Given the description of an element on the screen output the (x, y) to click on. 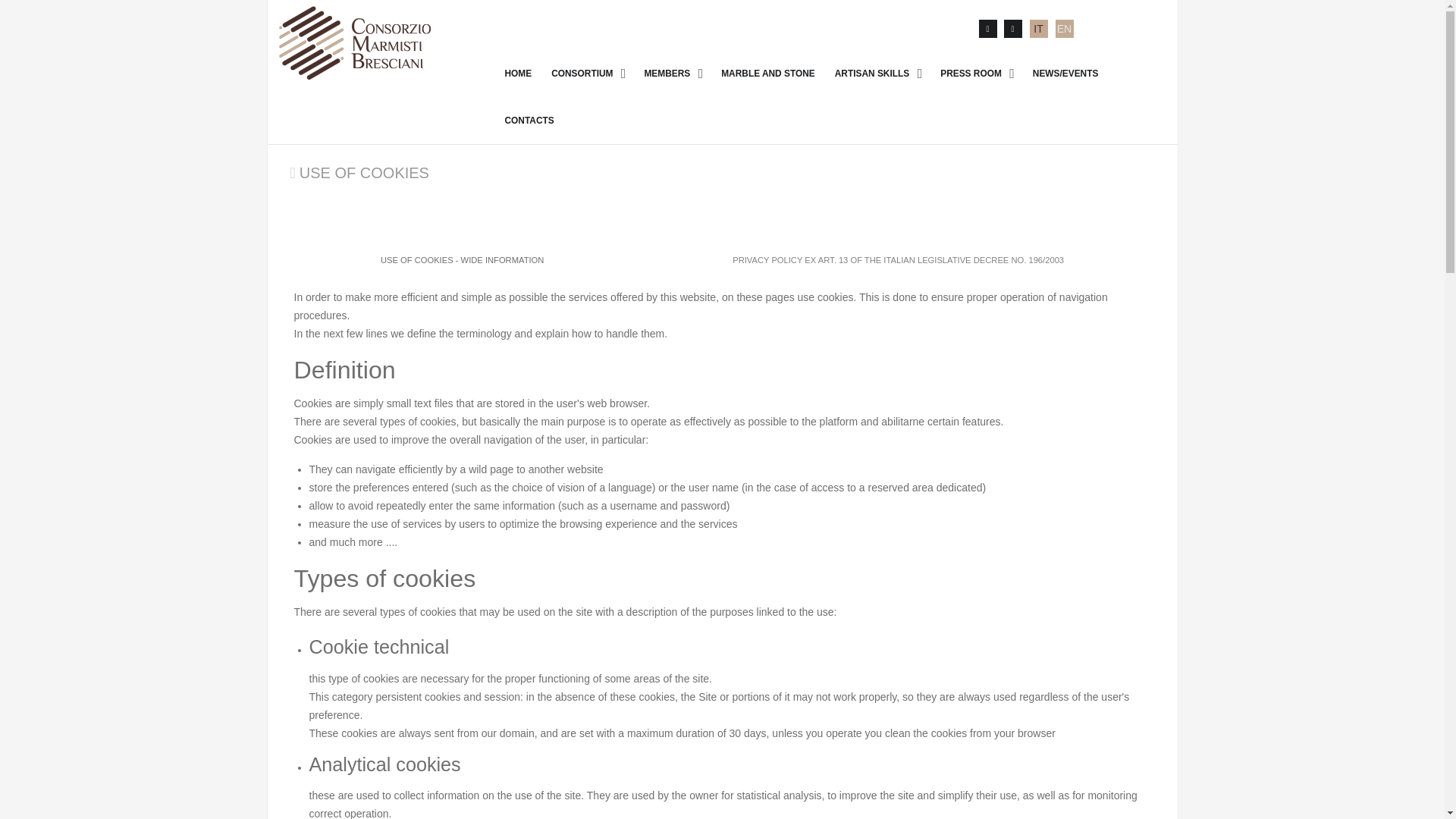
PRESS ROOM (976, 73)
CONSORTIUM (587, 73)
EN (1064, 28)
HOME (518, 73)
ARTISAN SKILLS (877, 73)
MARBLE AND STONE (767, 73)
CONTACTS (529, 120)
MEMBERS (672, 73)
